Given the description of an element on the screen output the (x, y) to click on. 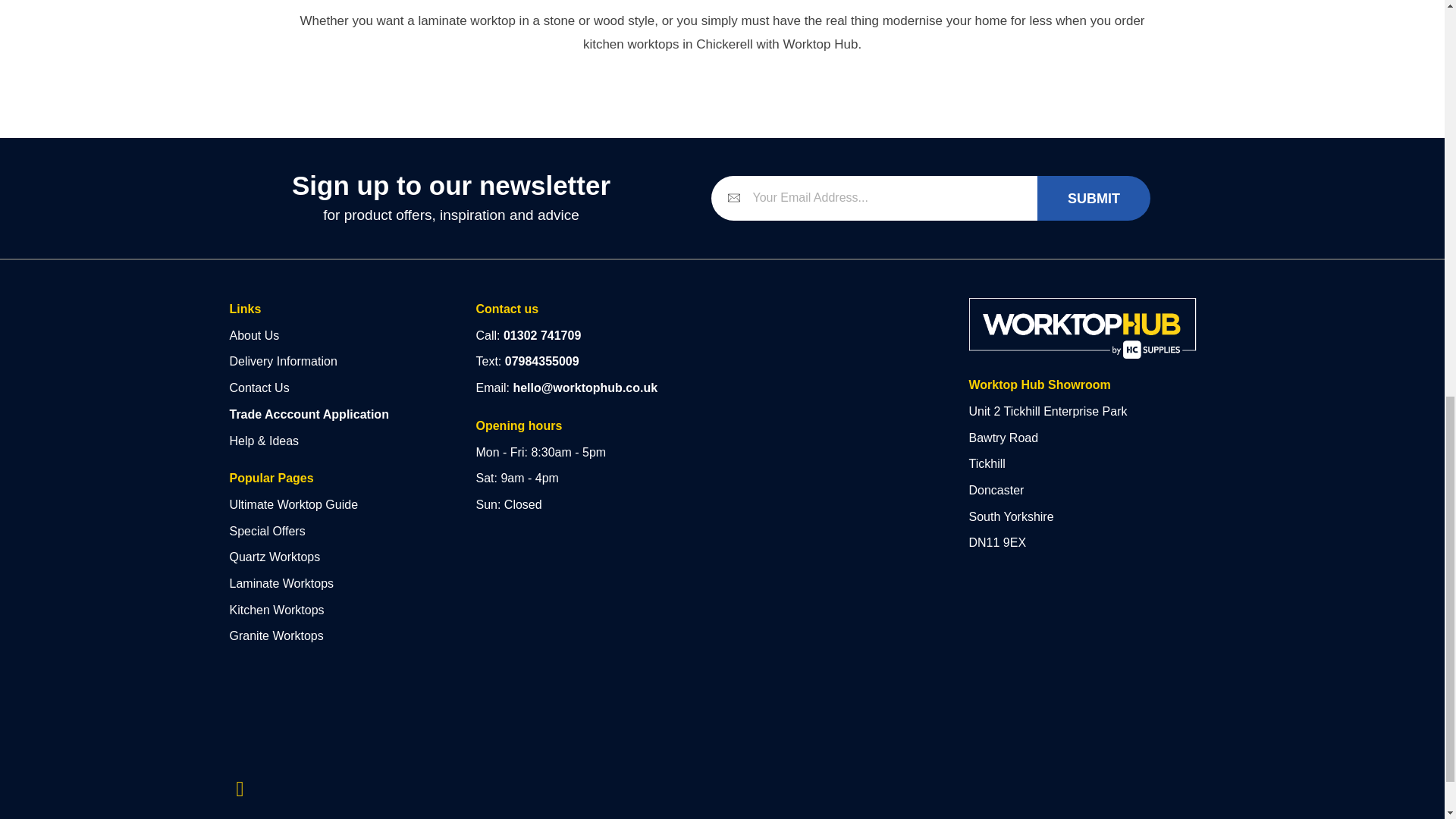
dn11 9ex (826, 392)
